Given the description of an element on the screen output the (x, y) to click on. 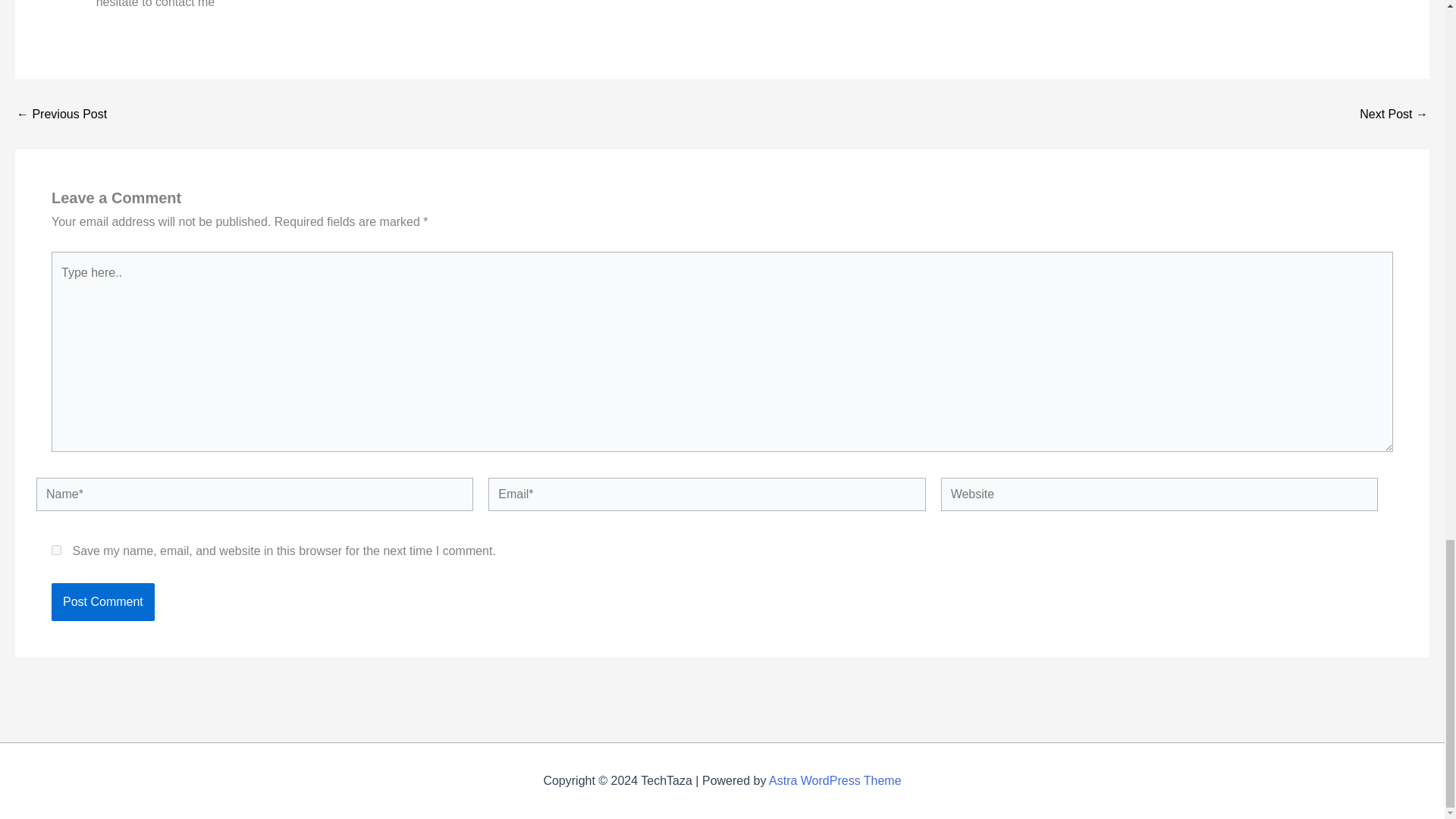
Post Comment (102, 601)
Post Comment (102, 601)
Astra WordPress Theme (834, 780)
yes (55, 550)
